Given the description of an element on the screen output the (x, y) to click on. 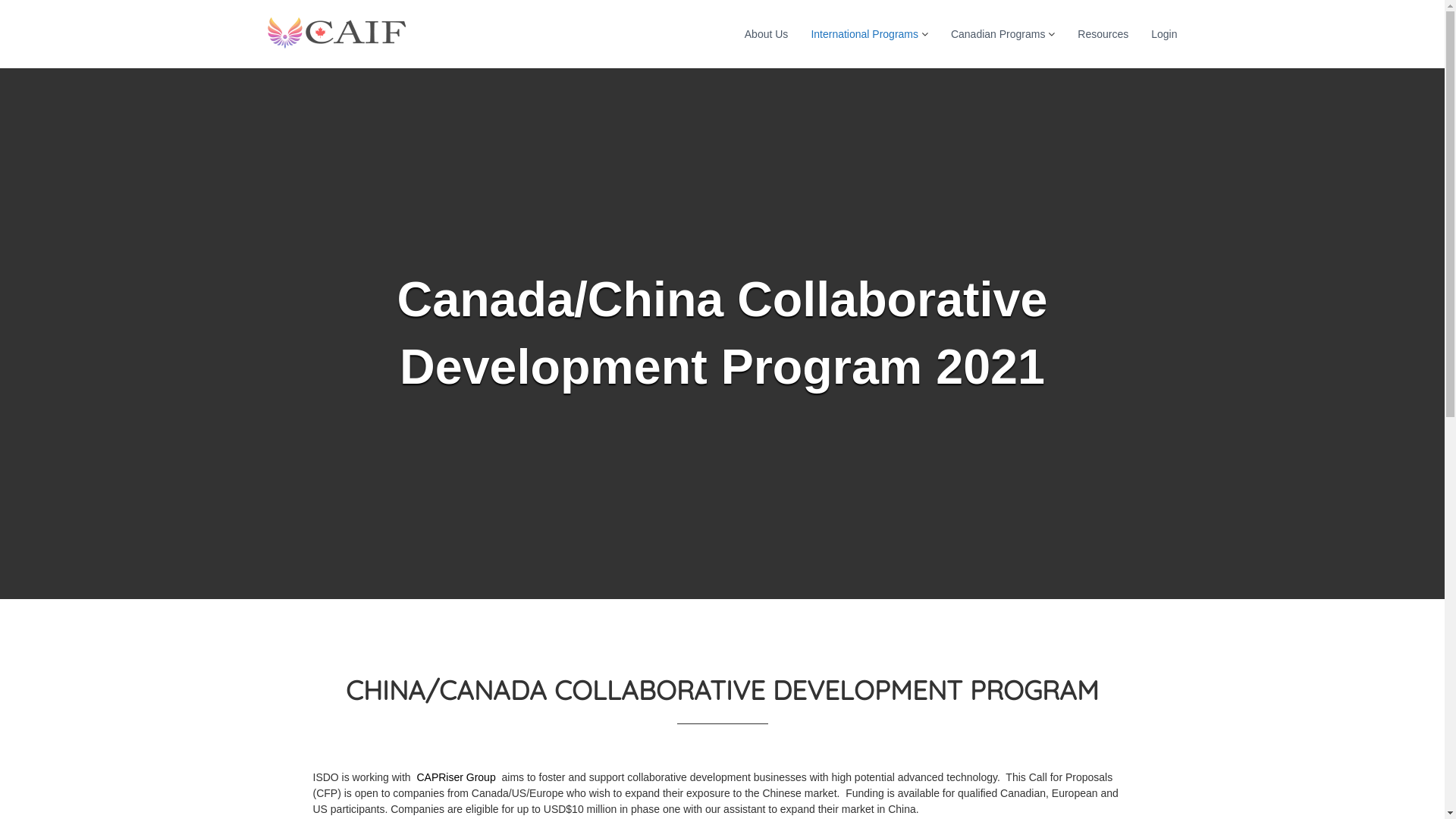
Resources Element type: text (1102, 33)
Canadian Programs Element type: text (997, 33)
About Us Element type: text (766, 33)
International Programs Element type: text (864, 33)
 CAPRiser Group  Element type: text (456, 777)
Login Element type: text (1163, 33)
